Given the description of an element on the screen output the (x, y) to click on. 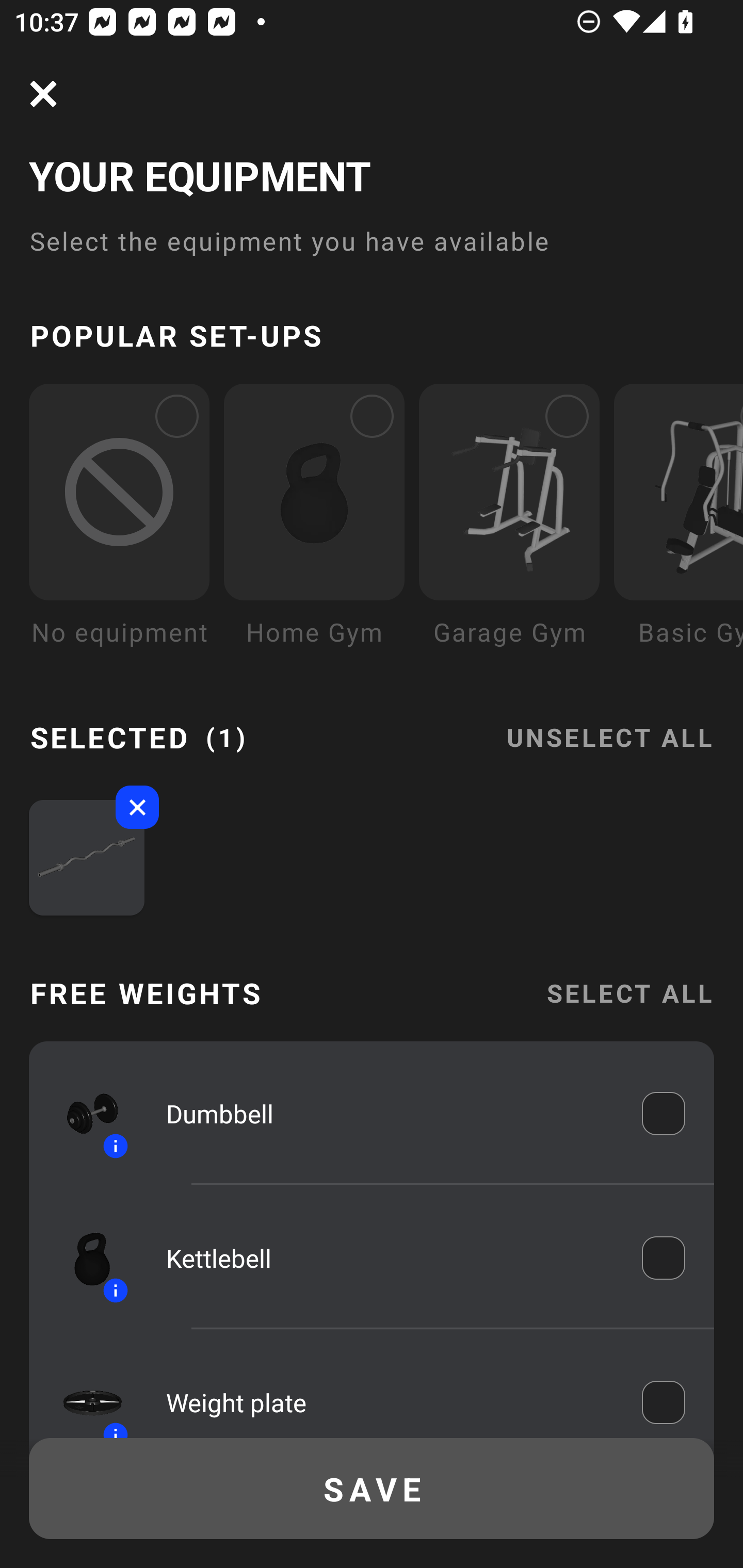
Navigation icon (43, 93)
UNSELECT ALL (609, 725)
SELECT ALL (629, 993)
Equipment icon Information icon (82, 1113)
Dumbbell (389, 1113)
Equipment icon Information icon (82, 1258)
Kettlebell (389, 1258)
Equipment icon Information icon (82, 1392)
Weight plate (389, 1398)
SAVE (371, 1488)
